Given the description of an element on the screen output the (x, y) to click on. 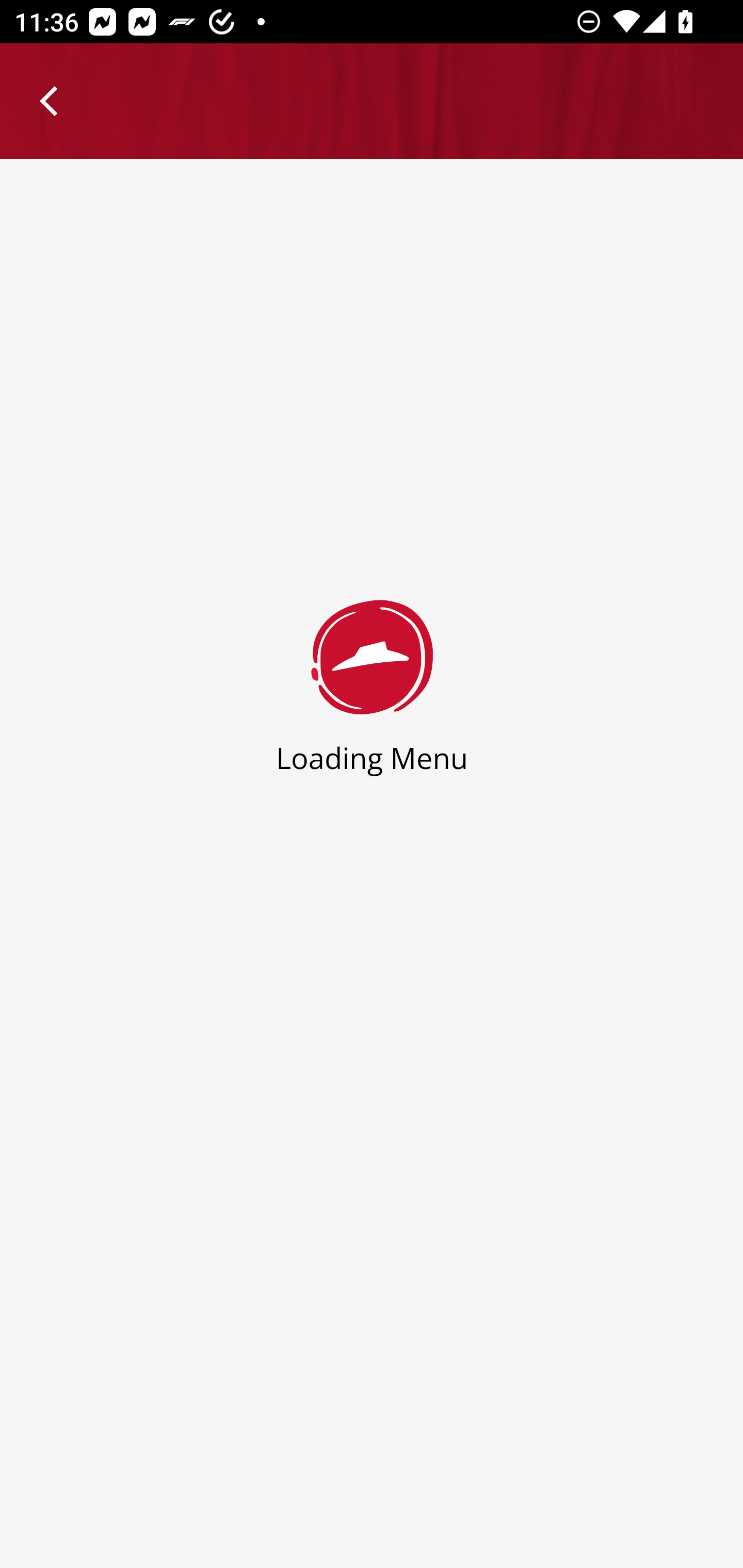
arrow_back_ios (58, 100)
